Given the description of an element on the screen output the (x, y) to click on. 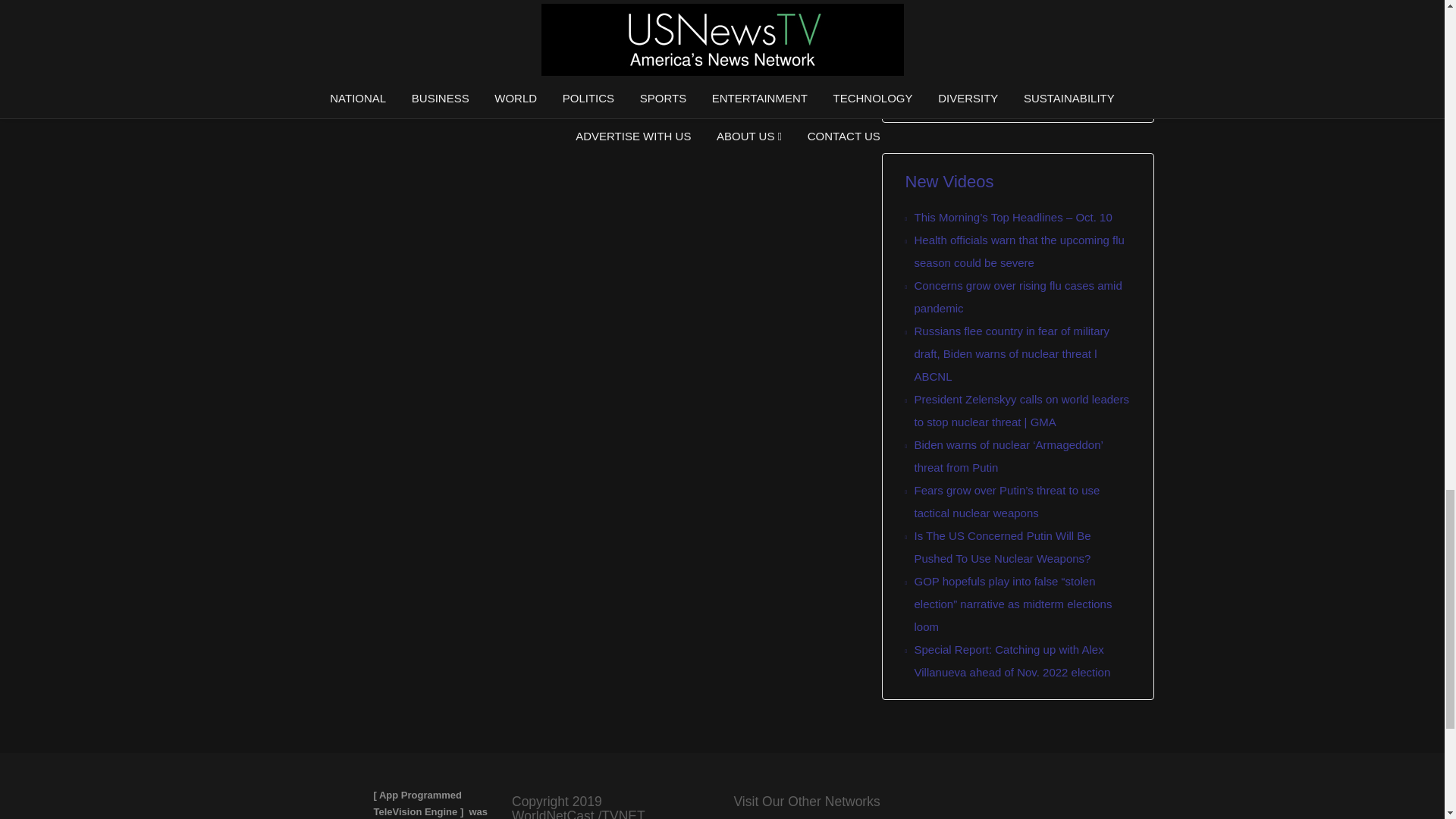
Search (935, 89)
